Given the description of an element on the screen output the (x, y) to click on. 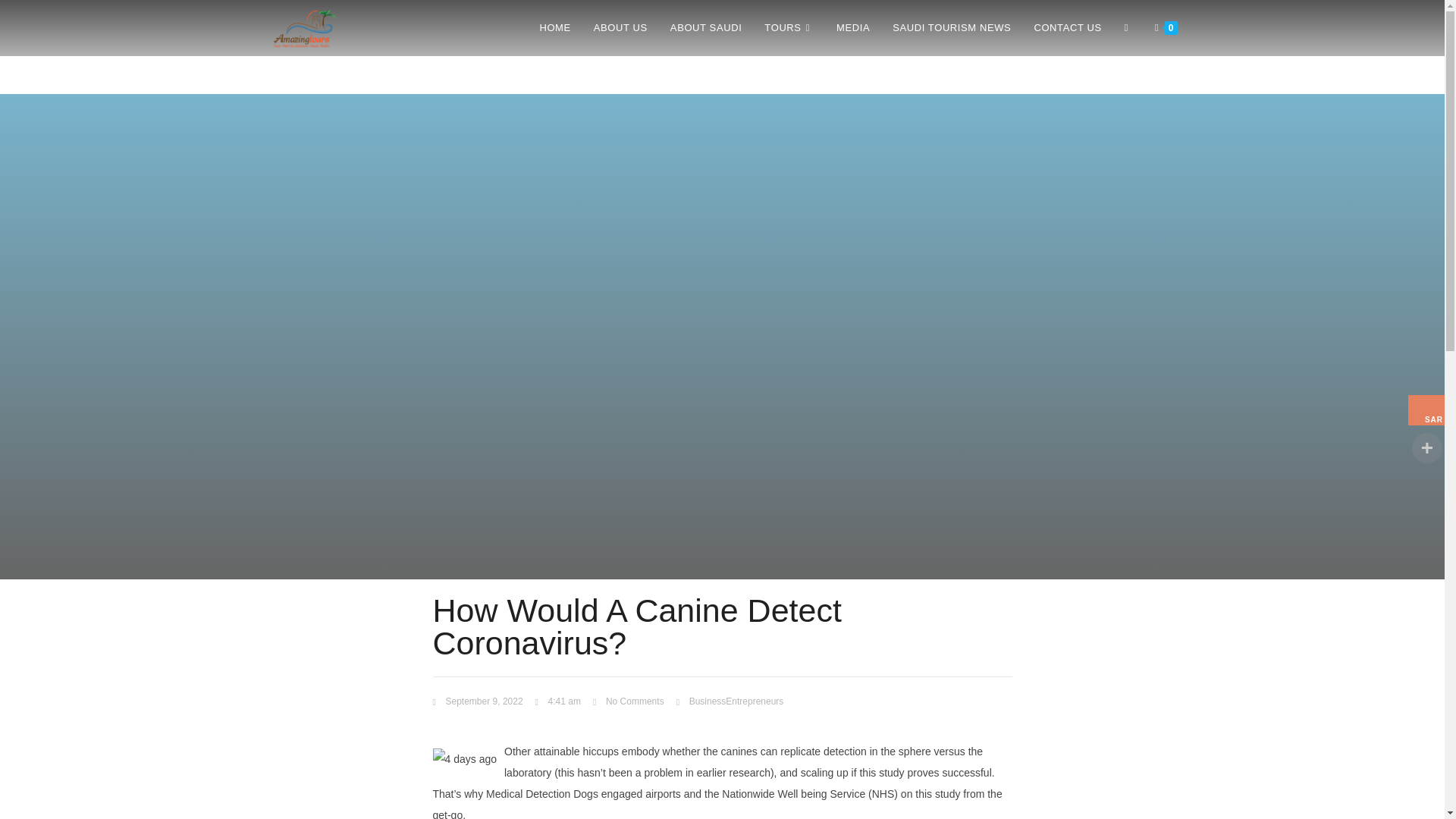
CONTACT US (1067, 28)
ABOUT SAUDI (706, 28)
BusinessEntrepreneurs (736, 701)
September 9, 2022 (477, 701)
SAUDI TOURISM NEWS (951, 28)
No Comments (627, 701)
HOME (553, 28)
ABOUT US (620, 28)
TOURS (788, 28)
MEDIA (852, 28)
